Given the description of an element on the screen output the (x, y) to click on. 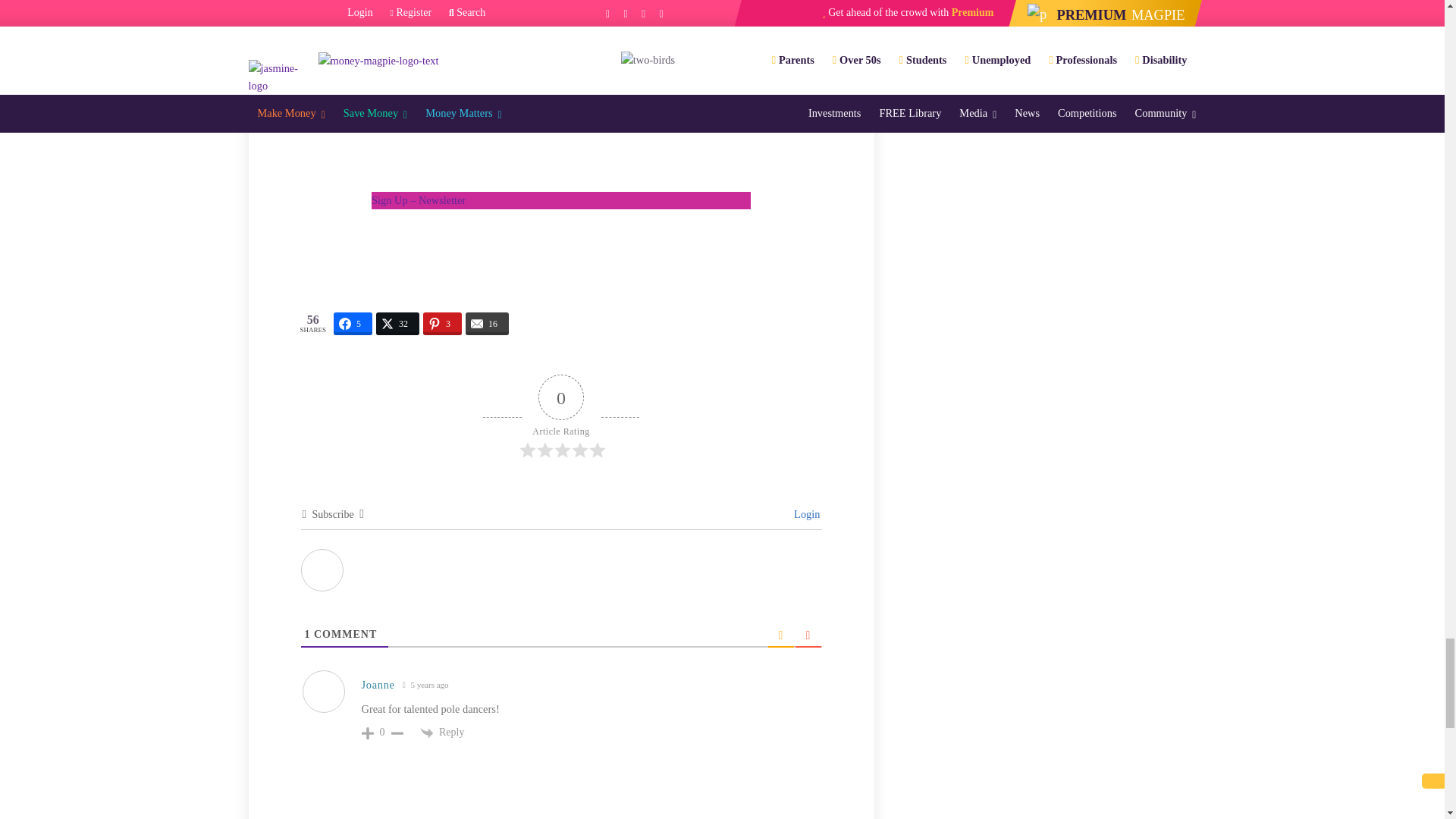
Share on Twitter (397, 323)
Share on Facebook (352, 323)
Share on Email (486, 323)
Share on Pinterest (442, 323)
